Given the description of an element on the screen output the (x, y) to click on. 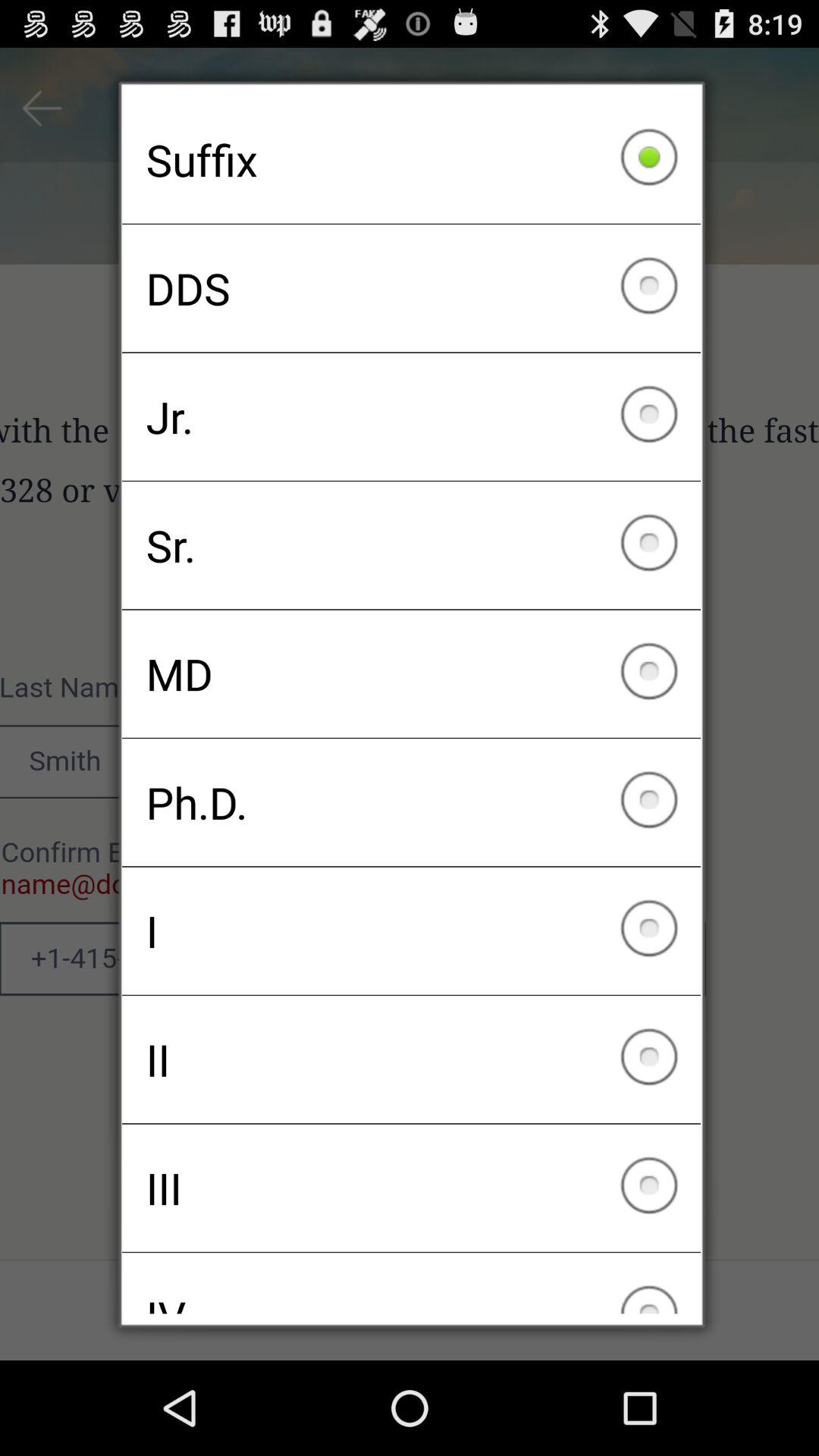
flip until the ii checkbox (411, 1059)
